Given the description of an element on the screen output the (x, y) to click on. 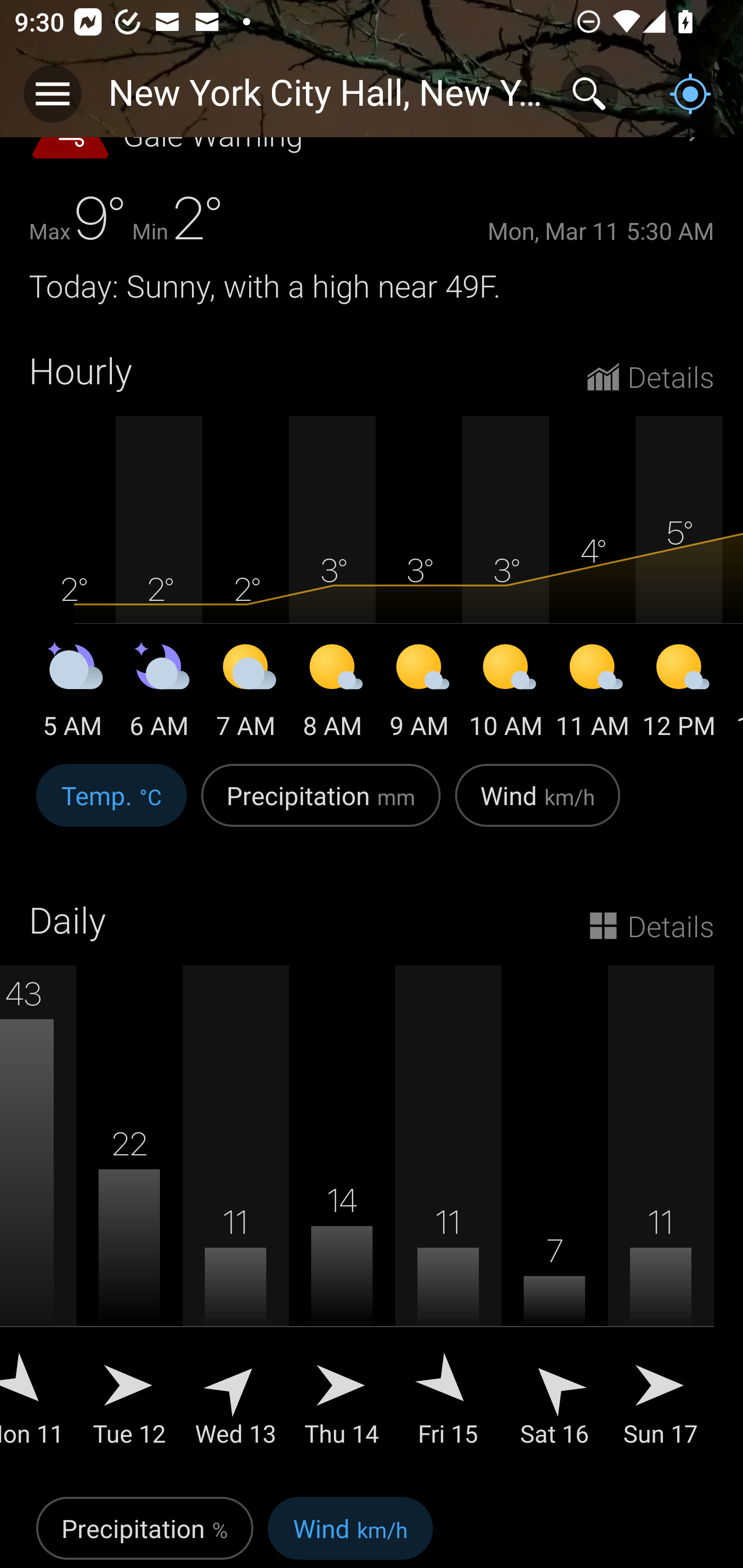
5 AM (71, 694)
6 AM (158, 694)
7 AM (245, 694)
8 AM (332, 694)
9 AM (418, 694)
10 AM (505, 694)
11 AM (592, 694)
12 PM (679, 694)
Temp. °C (110, 806)
Precipitation mm (320, 806)
Wind km/h (537, 806)
43  Mon 11 (38, 1219)
22  Tue 12 (129, 1219)
11  Wed 13 (235, 1219)
14  Thu 14 (342, 1219)
11  Fri 15 (448, 1219)
7  Sat 16 (554, 1219)
11  Sun 17 (660, 1219)
Precipitation % (144, 1528)
Wind km/h (349, 1528)
